Given the description of an element on the screen output the (x, y) to click on. 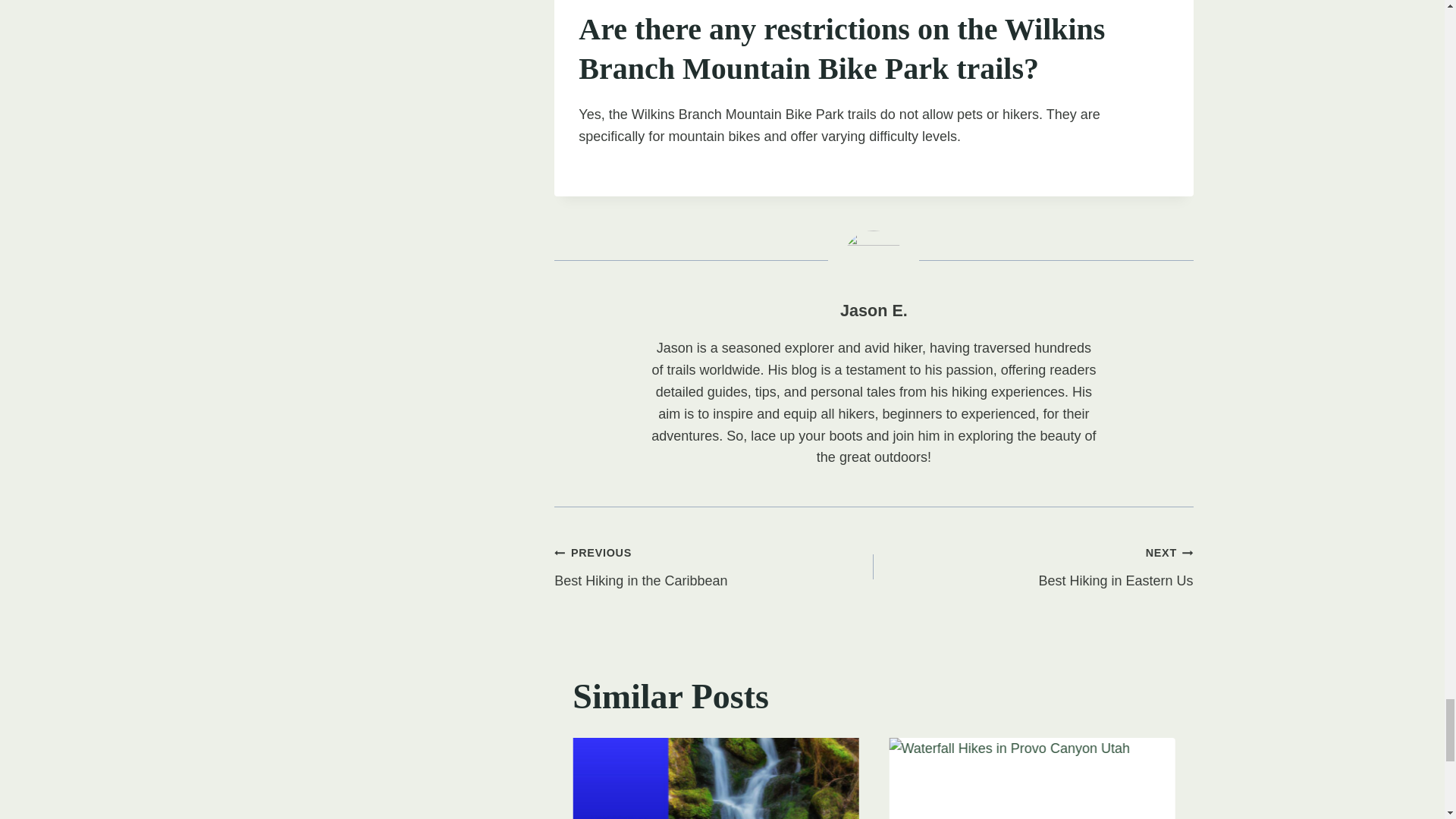
Jason E. (713, 566)
Waterfall Hikes in Provo Canyon Utah 3 (873, 310)
Posts by Jason E. (1031, 778)
Waterfall Hikes Near Gig Harbor 2 (873, 310)
